Given the description of an element on the screen output the (x, y) to click on. 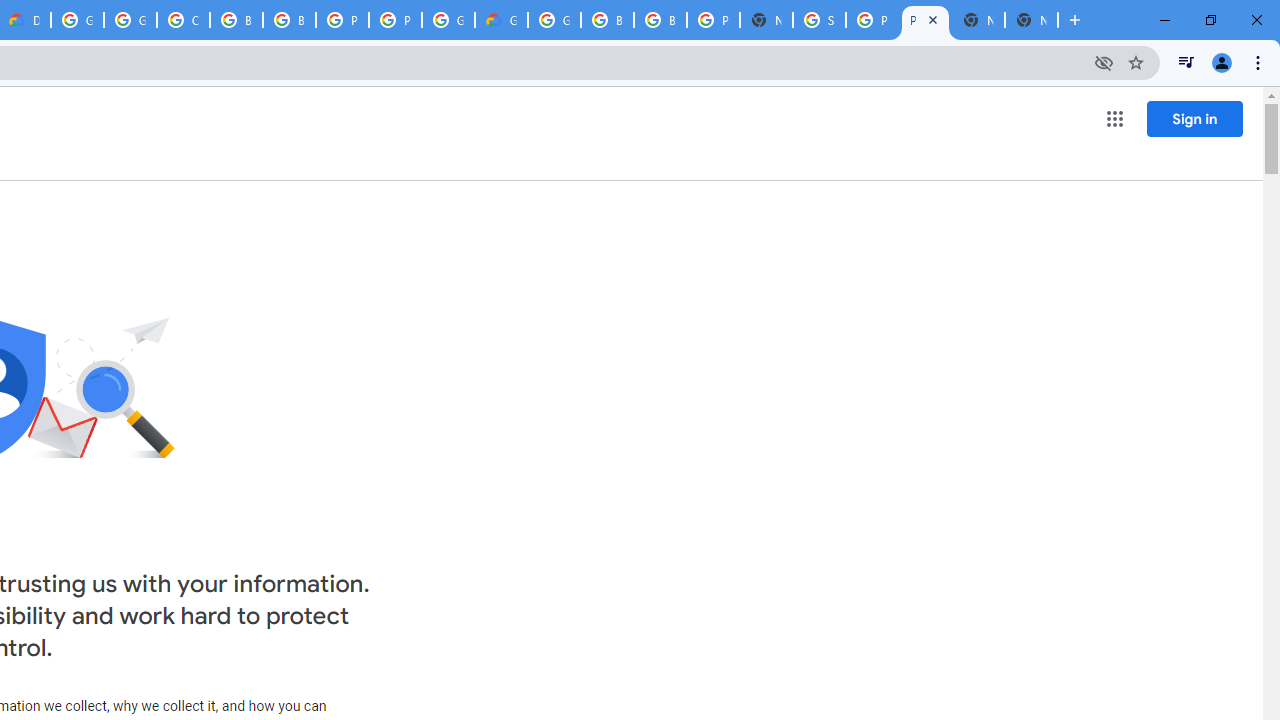
Sign in - Google Accounts (819, 20)
Google Cloud Platform (77, 20)
